Given the description of an element on the screen output the (x, y) to click on. 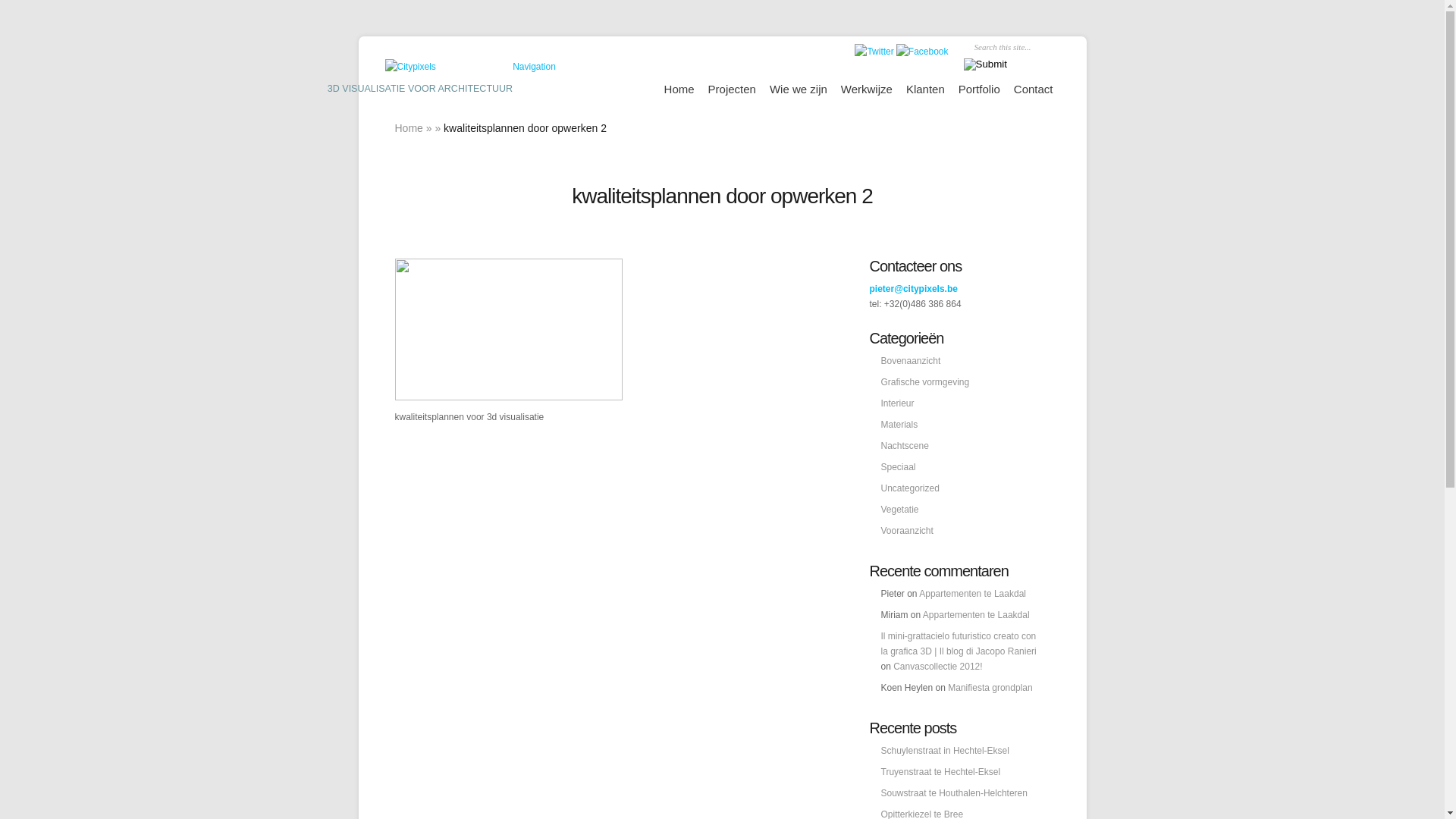
Appartementen te Laakdal Element type: text (975, 614)
Souwstraat te Houthalen-Helchteren Element type: text (954, 792)
Projecten Element type: text (732, 89)
Home Element type: text (679, 89)
Materials Element type: text (899, 424)
Truyenstraat te Hechtel-Eksel Element type: text (941, 771)
Canvascollectie 2012! Element type: text (937, 666)
Schuylenstraat in Hechtel-Eksel Element type: text (945, 750)
Werkwijze Element type: text (866, 89)
Klanten Element type: text (925, 89)
Contact Element type: text (1033, 89)
Home Element type: text (408, 128)
Vegetatie Element type: text (900, 509)
Vooraanzicht Element type: text (907, 530)
Uncategorized Element type: text (910, 488)
Nachtscene Element type: text (904, 445)
pieter@citypixels.be Element type: text (913, 288)
Navigation Element type: text (533, 66)
Bovenaanzicht Element type: text (911, 360)
Manifiesta grondplan Element type: text (989, 687)
Portfolio Element type: text (979, 89)
Grafische vormgeving Element type: text (925, 381)
Wie we zijn Element type: text (798, 89)
Interieur Element type: text (897, 403)
Appartementen te Laakdal Element type: text (972, 593)
Speciaal Element type: text (898, 466)
